Given the description of an element on the screen output the (x, y) to click on. 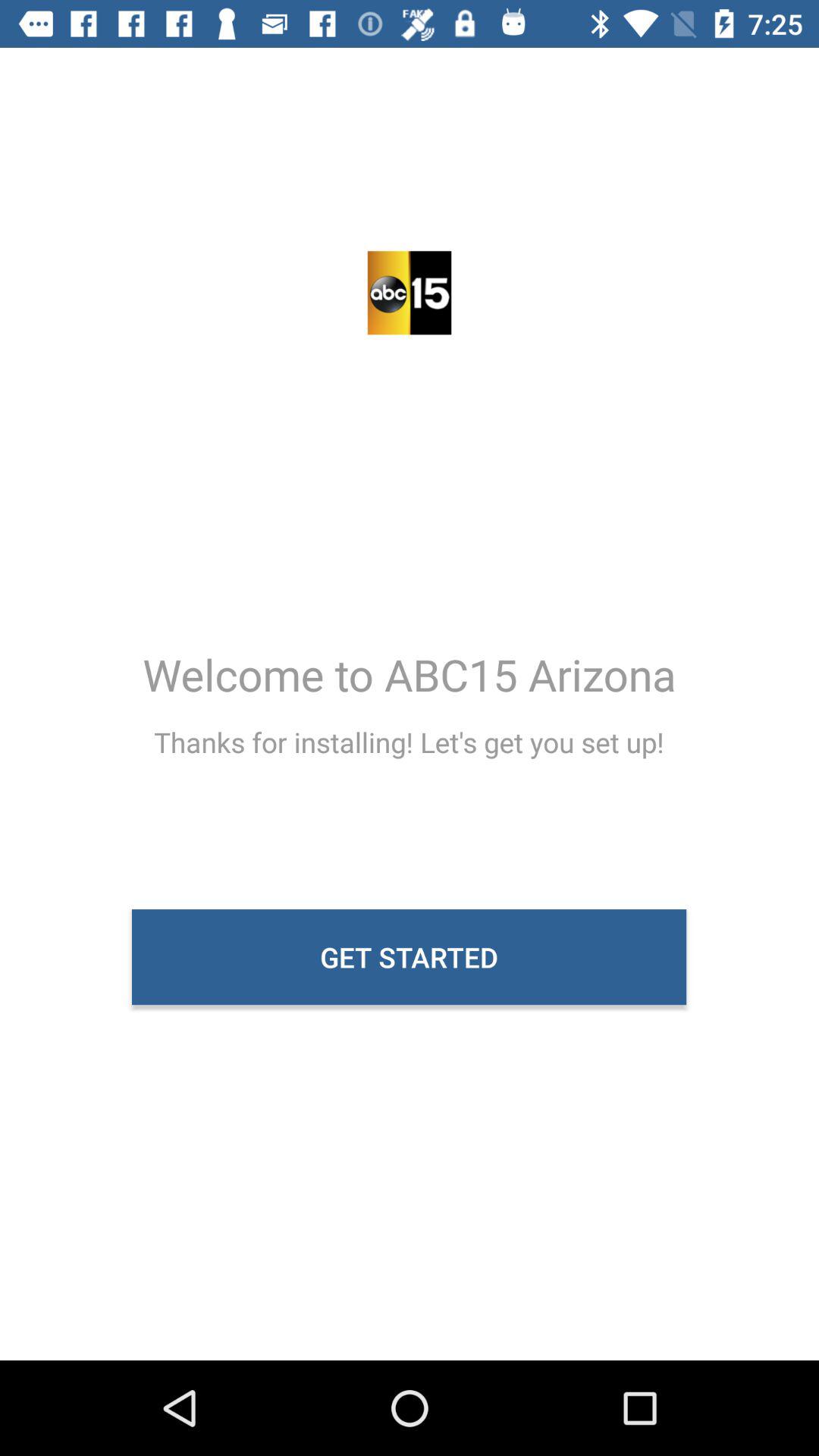
turn off the item below the thanks for installing icon (408, 956)
